Given the description of an element on the screen output the (x, y) to click on. 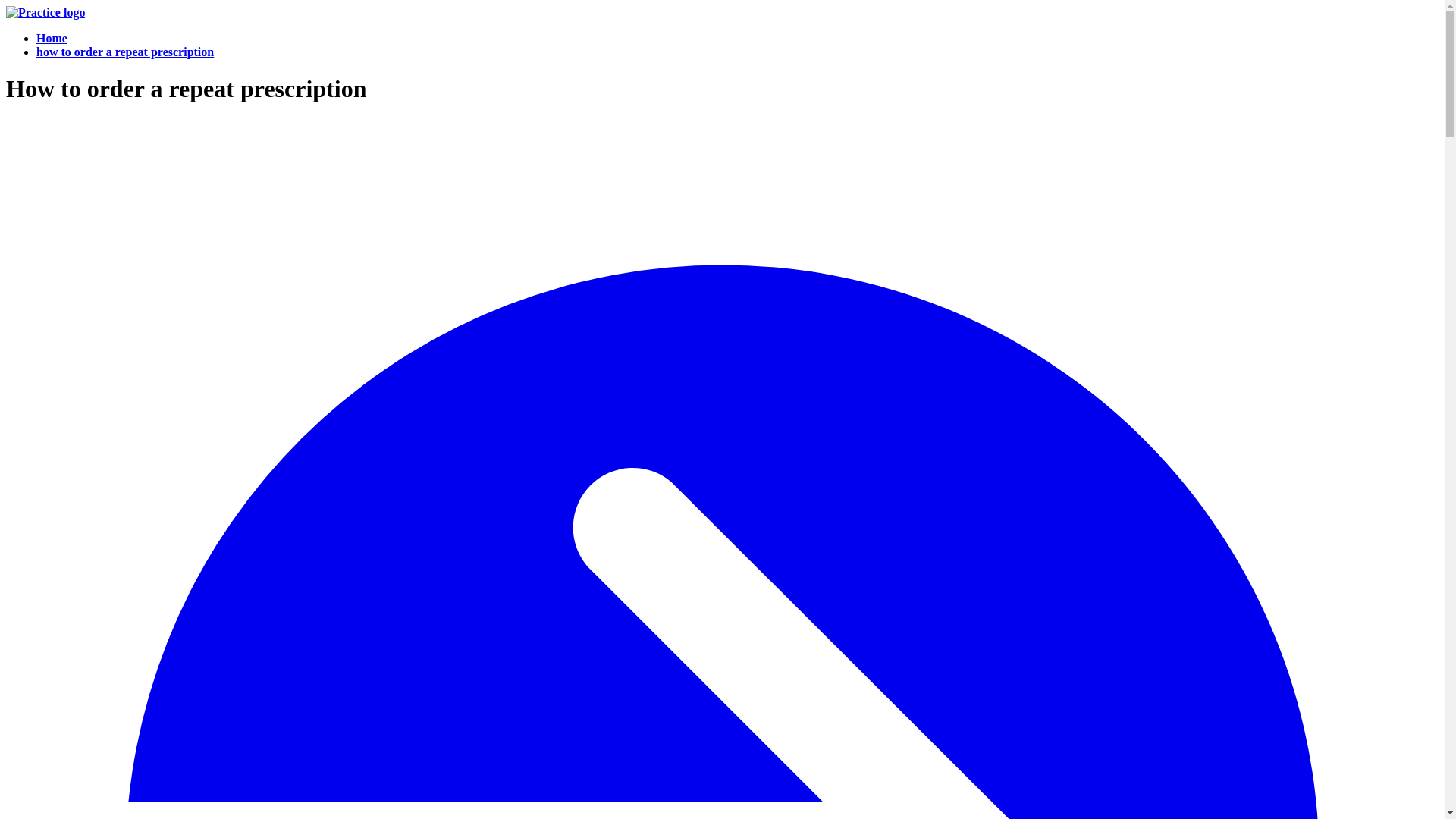
Home (51, 38)
how to order a repeat prescription (125, 51)
